Given the description of an element on the screen output the (x, y) to click on. 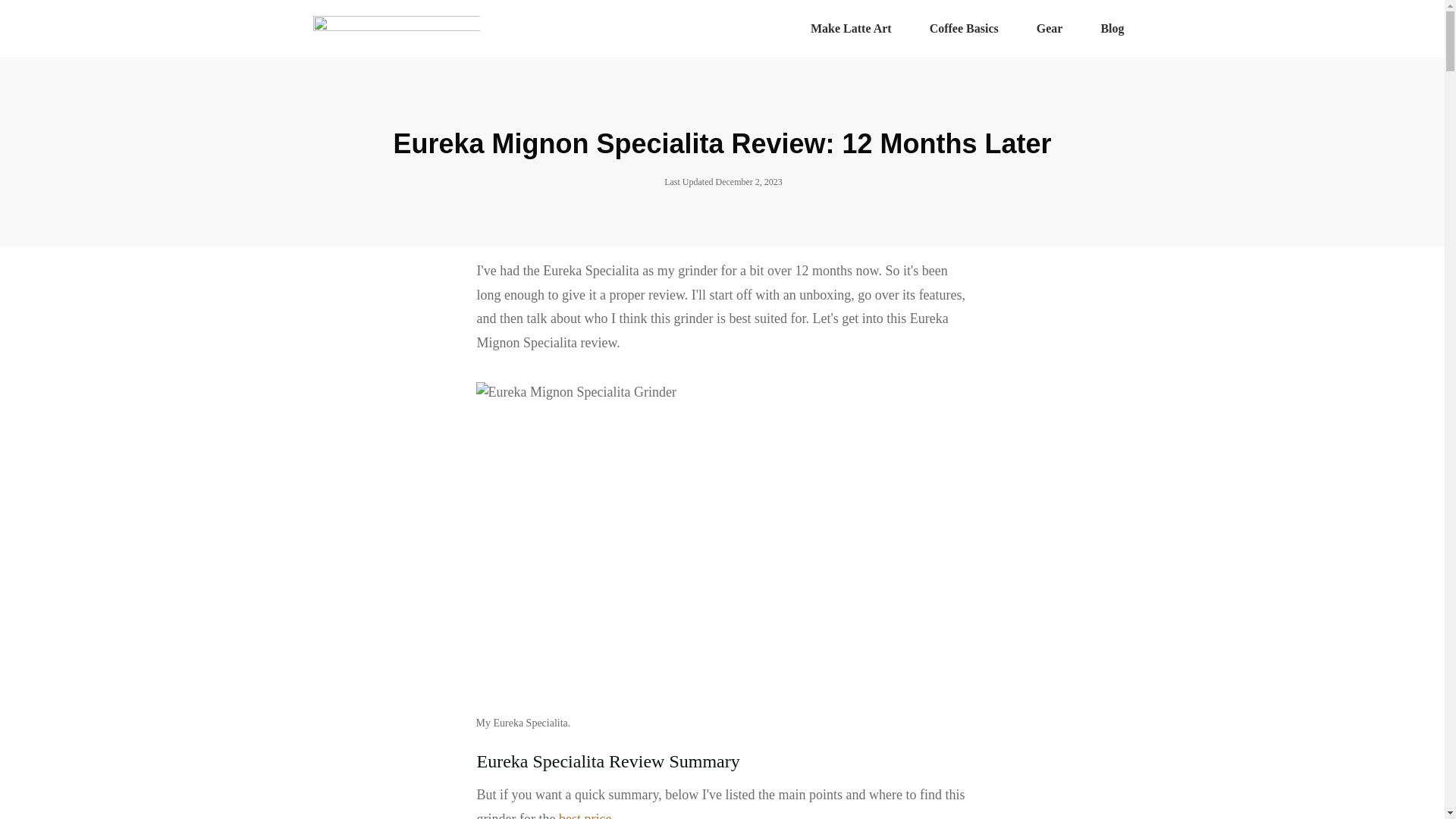
Gear (1049, 28)
Blog (1112, 28)
Coffee Basics (964, 28)
Make Latte Art (850, 28)
best price (585, 815)
